Given the description of an element on the screen output the (x, y) to click on. 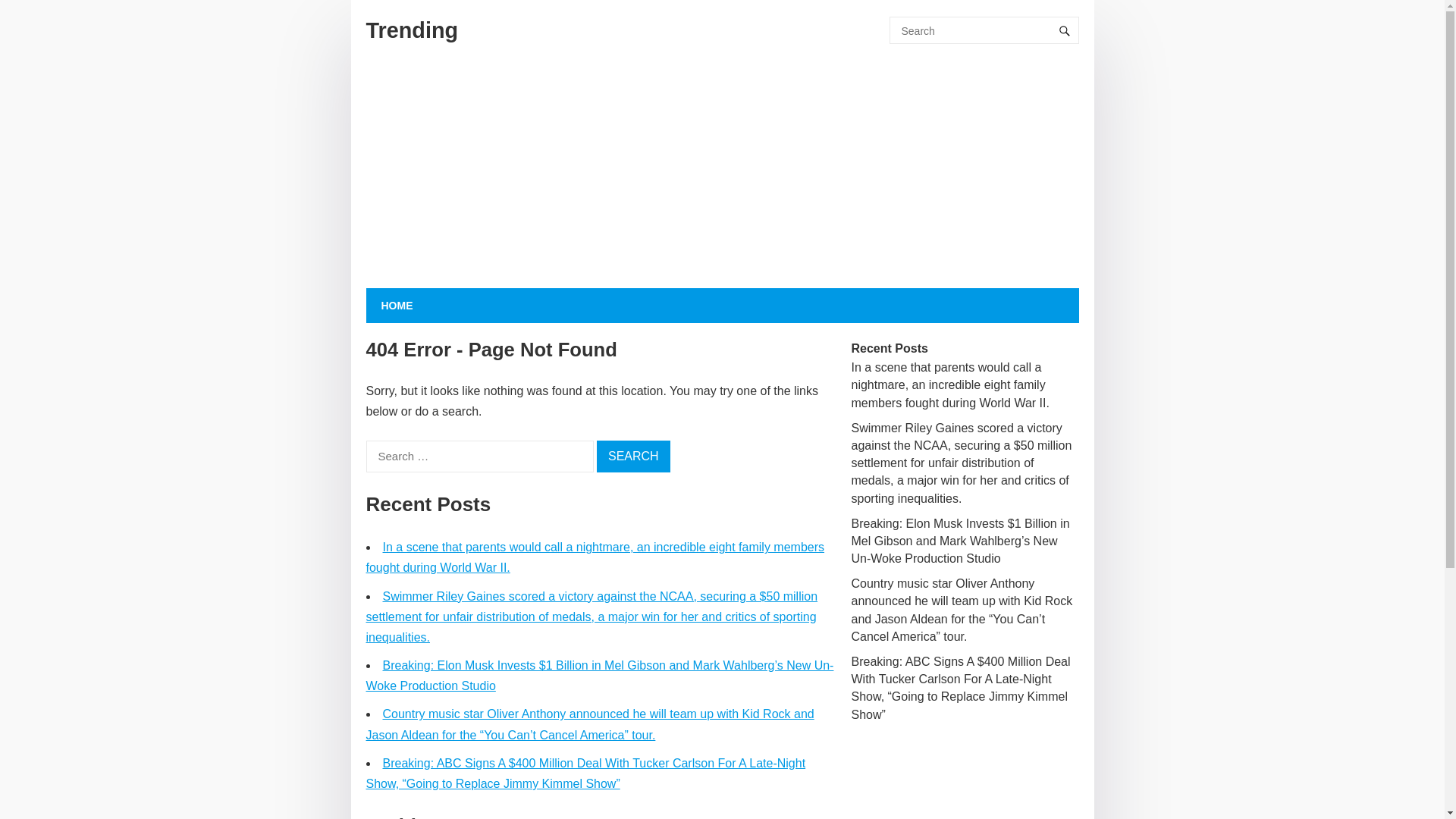
HOME (396, 305)
Search (632, 456)
Search (632, 456)
Trending (411, 30)
Search (632, 456)
